Given the description of an element on the screen output the (x, y) to click on. 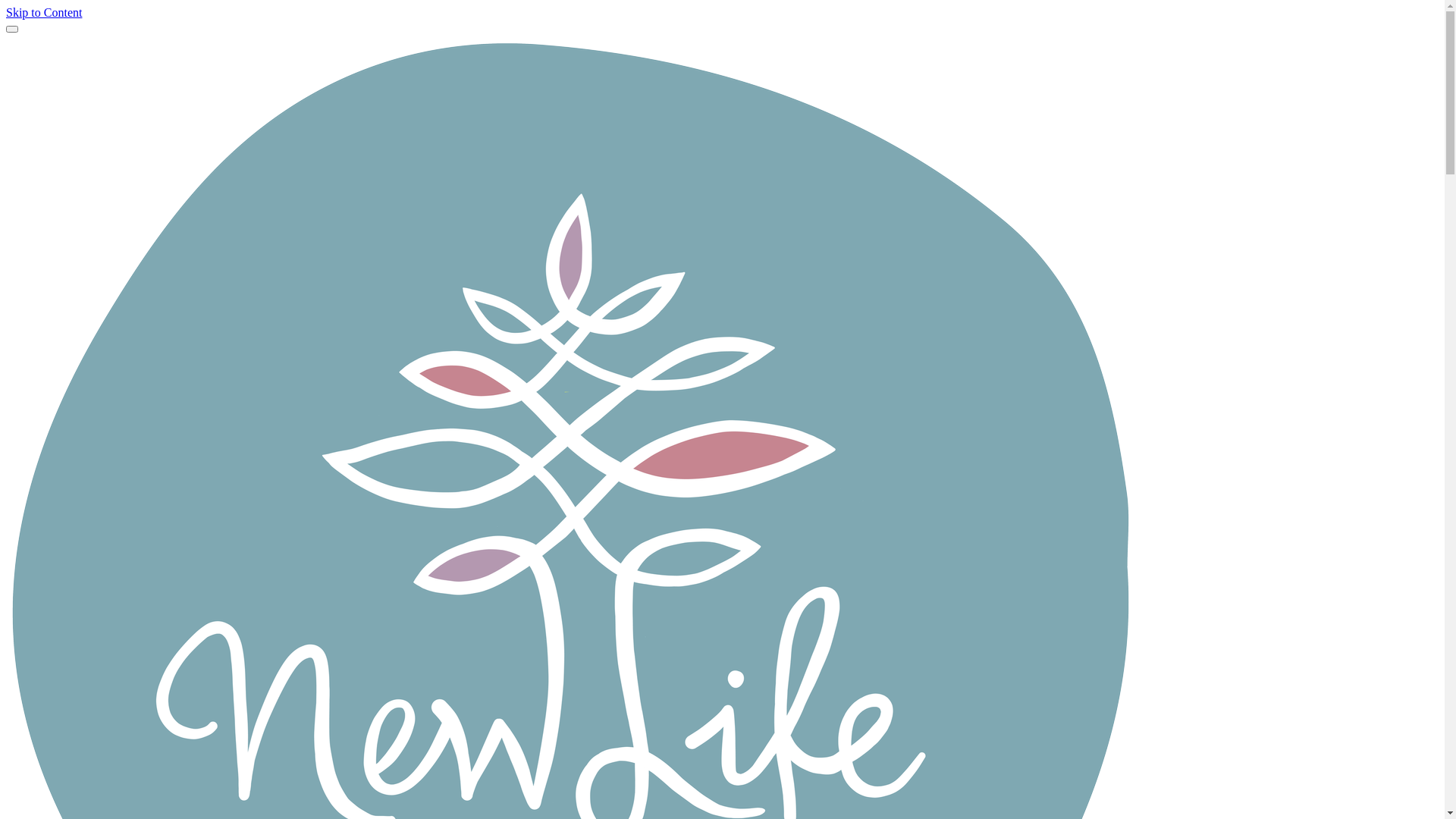
Skip to Content Element type: text (43, 12)
